Given the description of an element on the screen output the (x, y) to click on. 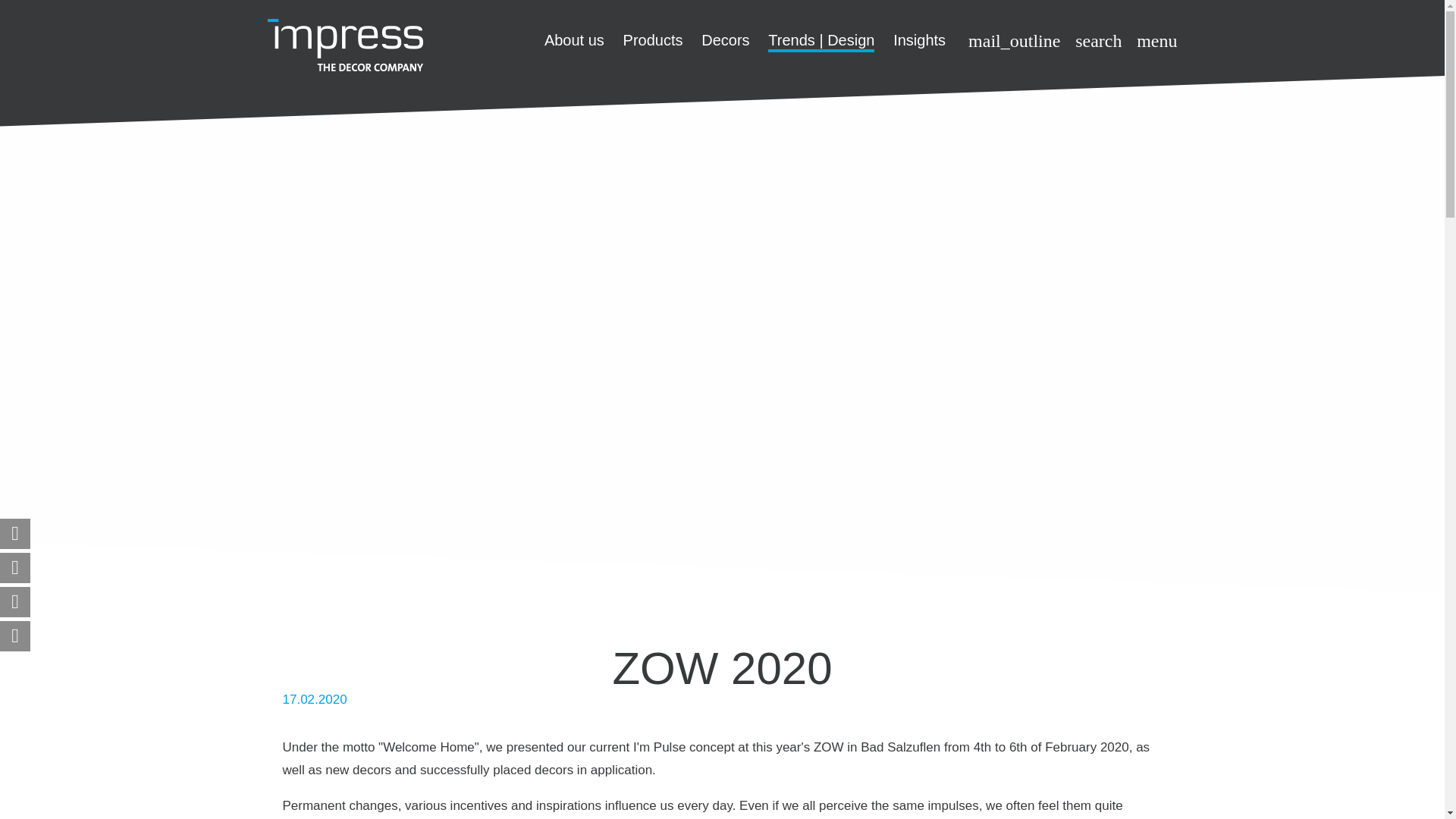
search (1098, 42)
Decors (725, 39)
Products (652, 39)
About us (574, 39)
Products (652, 39)
menu (1156, 42)
Company (574, 39)
